Given the description of an element on the screen output the (x, y) to click on. 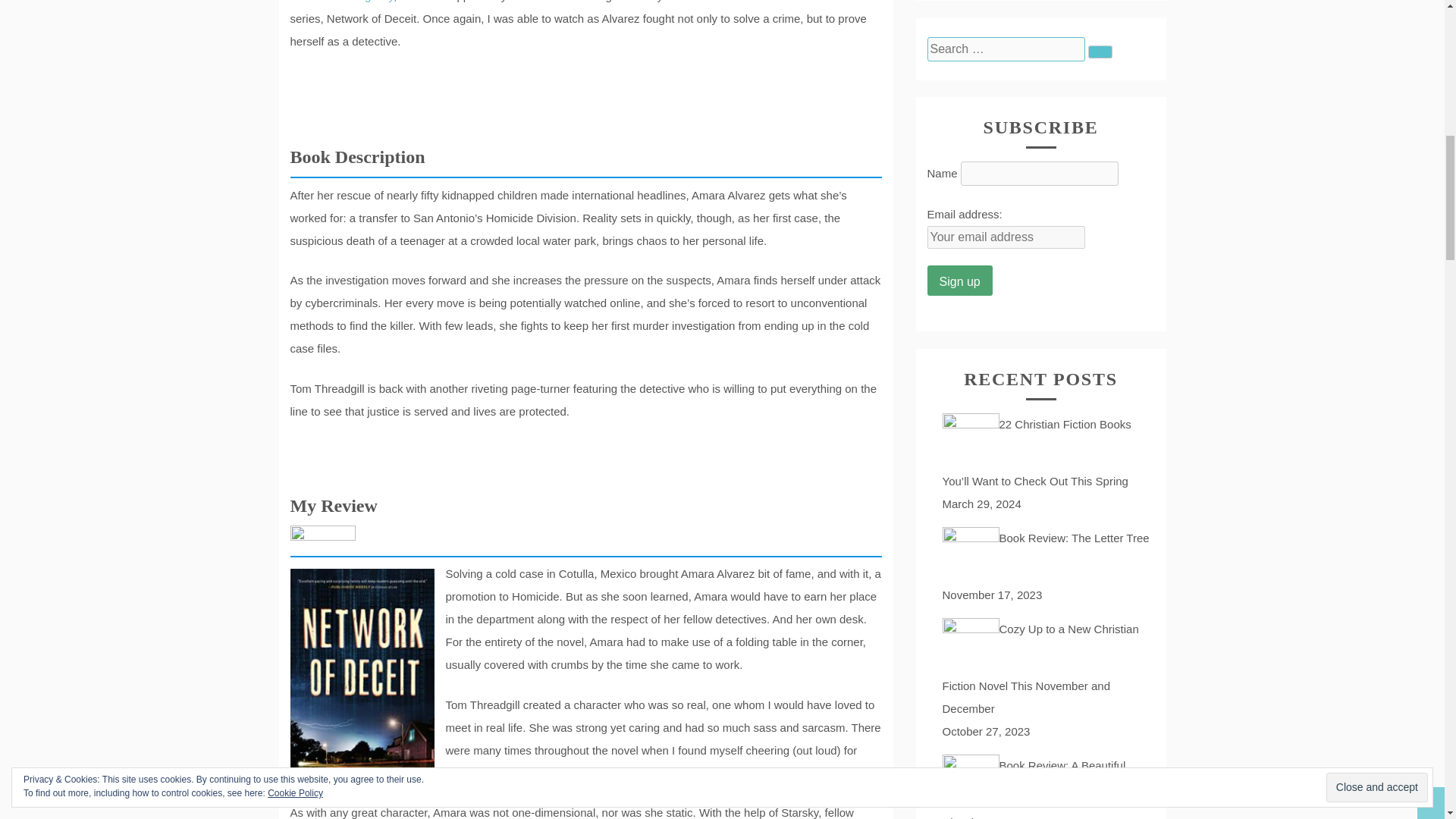
Netgalley (370, 1)
Revell (305, 1)
Sign up (958, 280)
